Given the description of an element on the screen output the (x, y) to click on. 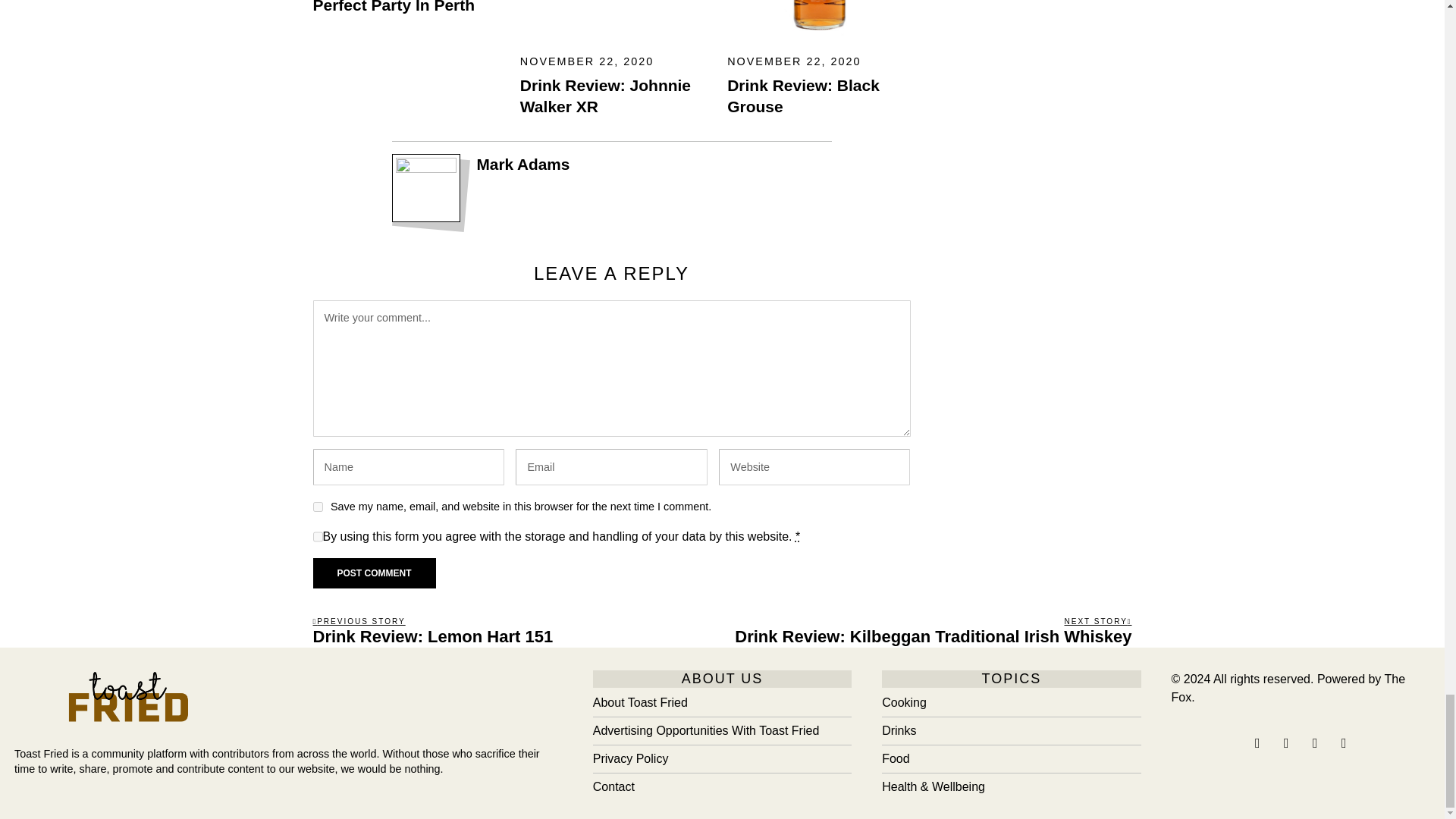
yes (317, 506)
Post Comment (374, 572)
22 Nov, 2020 06:50:52 (586, 61)
22 Nov, 2020 06:31:37 (793, 61)
